Given the description of an element on the screen output the (x, y) to click on. 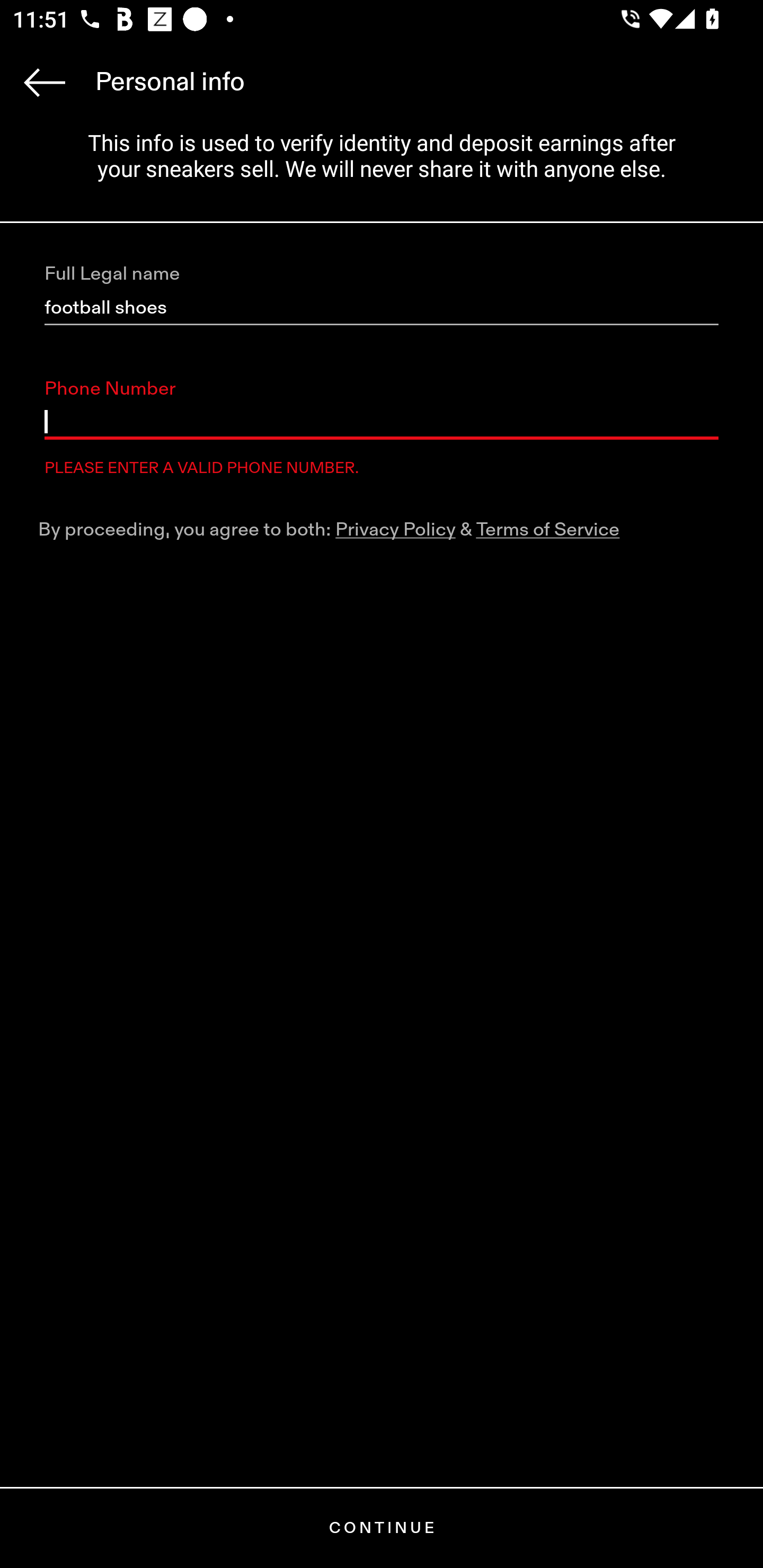
Navigate up (44, 82)
football shoes (381, 308)
Phone Number (381, 422)
CONTINUE (381, 1528)
